Given the description of an element on the screen output the (x, y) to click on. 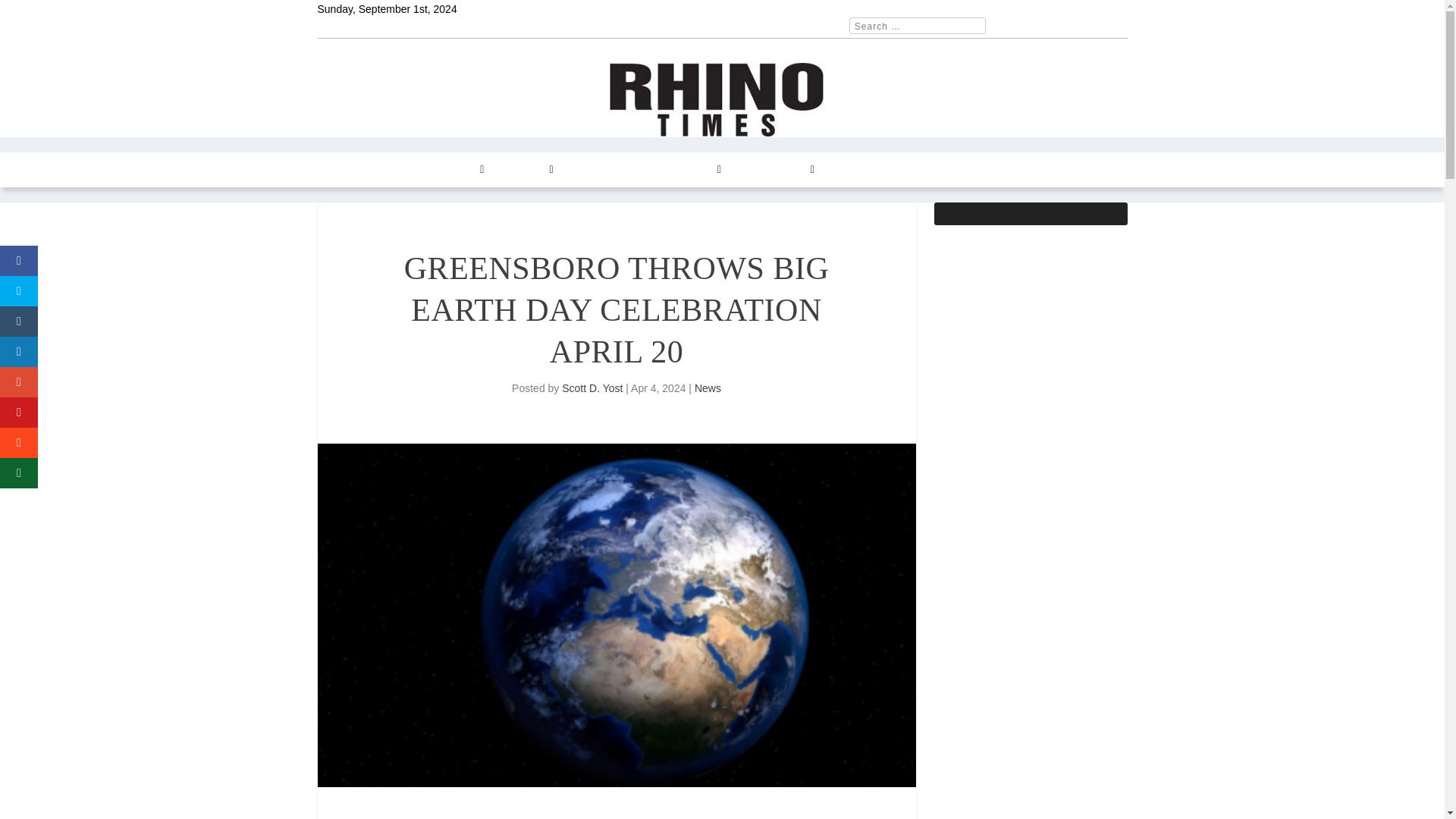
News (707, 387)
ARCHIVES (689, 169)
Posts by Scott D. Yost (592, 387)
CONTACT US (775, 169)
HOME (342, 169)
OPINION (526, 169)
NEWS (390, 169)
Search (31, 13)
COLUMNS (453, 169)
ABOUT US (858, 169)
